Given the description of an element on the screen output the (x, y) to click on. 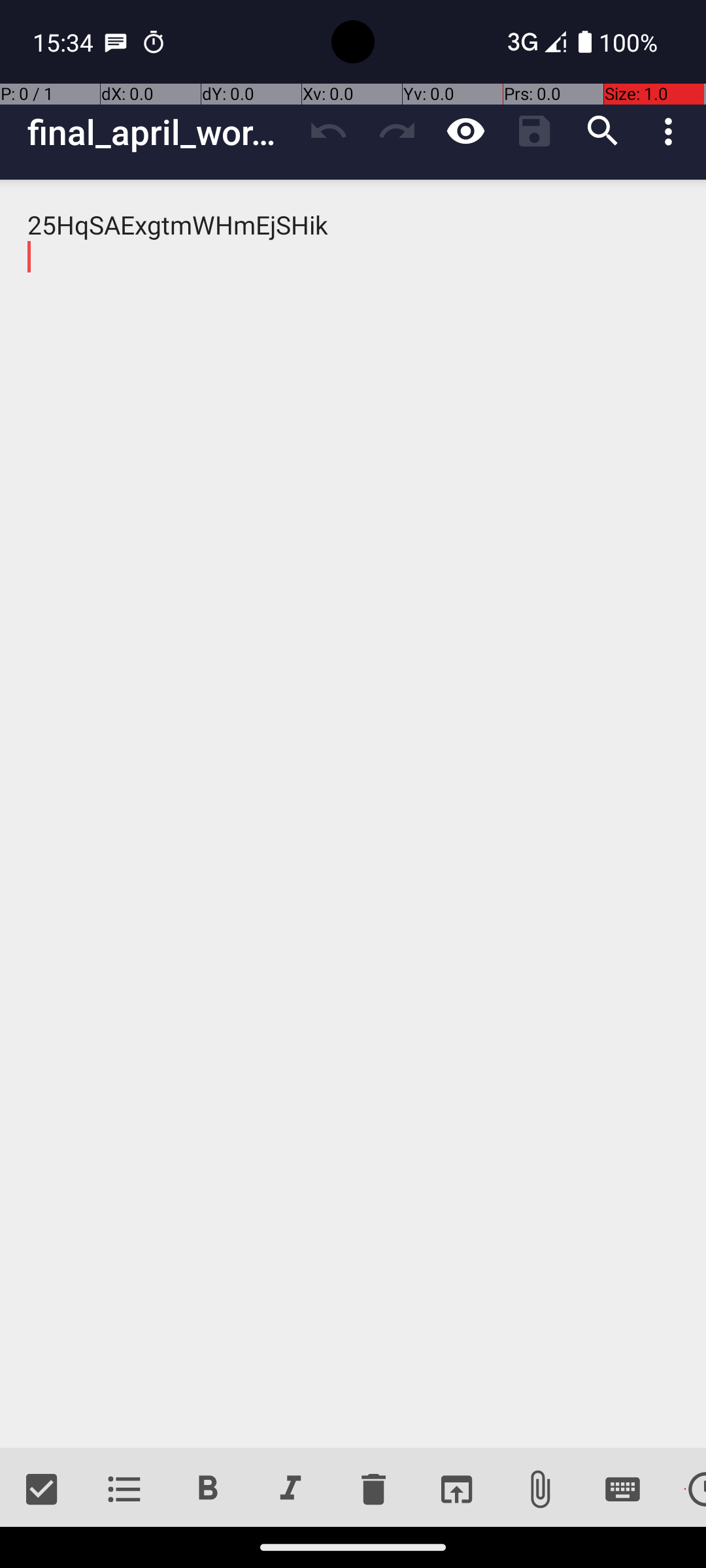
final_april_workout_routine Element type: android.widget.TextView (160, 131)
25HqSAExgtmWHmEjSHik
 Element type: android.widget.EditText (353, 813)
